Given the description of an element on the screen output the (x, y) to click on. 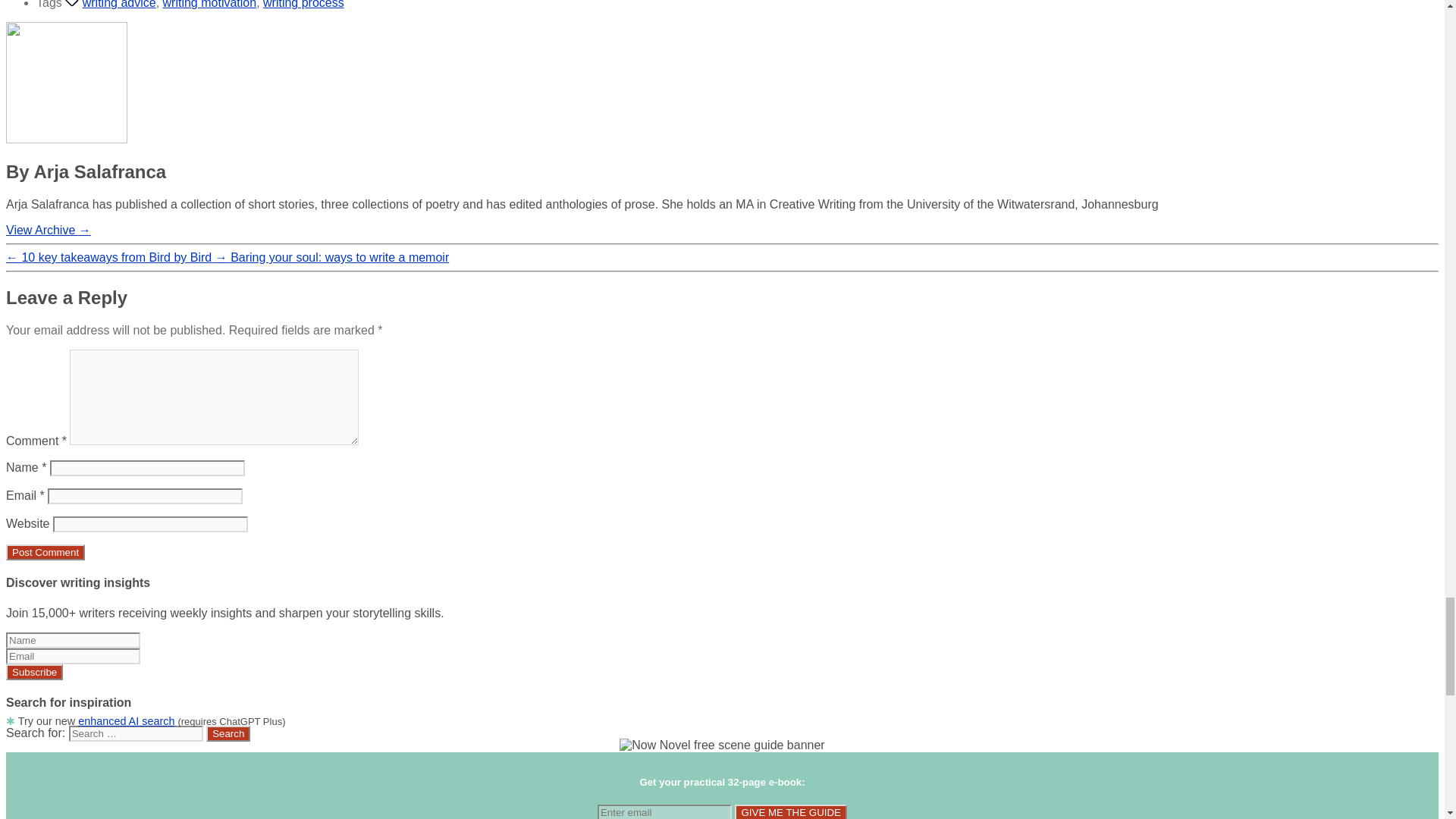
Subscribe (33, 672)
Search (228, 733)
Search (228, 733)
GIVE ME THE GUIDE (791, 811)
Post Comment (44, 552)
